Given the description of an element on the screen output the (x, y) to click on. 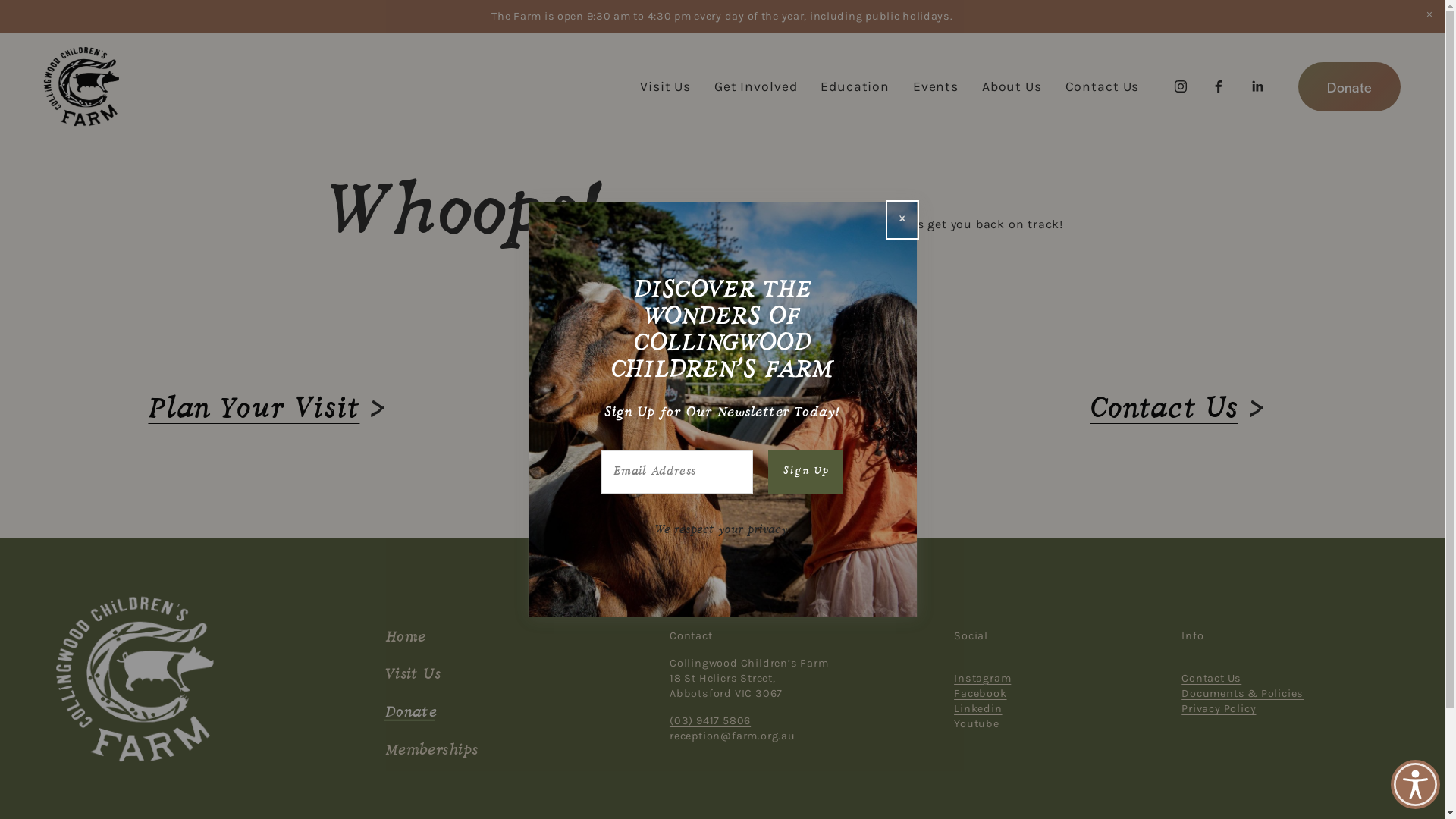
reception@farm.org.au Element type: text (732, 735)
Plan Your Visit Element type: text (253, 410)
Visit Us Element type: text (665, 86)
Get Involved Element type: text (755, 86)
Home Element type: text (405, 638)
Privacy Policy Element type: text (1218, 708)
Visit Us Element type: text (412, 675)
Memberships Element type: text (431, 751)
Facebook Element type: text (979, 693)
About Us Element type: text (1011, 86)
Linkedin Element type: text (977, 708)
Education Element type: text (854, 86)
(03) 9417 5806 Element type: text (709, 720)
Donate Element type: text (1349, 86)
Sign Up Element type: text (805, 471)
Events Element type: text (935, 86)
Youtube Element type: text (976, 723)
Homepage Element type: text (708, 410)
Instagram Element type: text (981, 678)
Contact Us Element type: text (1164, 410)
Contact Us Element type: text (1211, 678)
Donate Element type: text (411, 713)
Documents & Policies Element type: text (1242, 693)
Contact Us Element type: text (1102, 86)
